Given the description of an element on the screen output the (x, y) to click on. 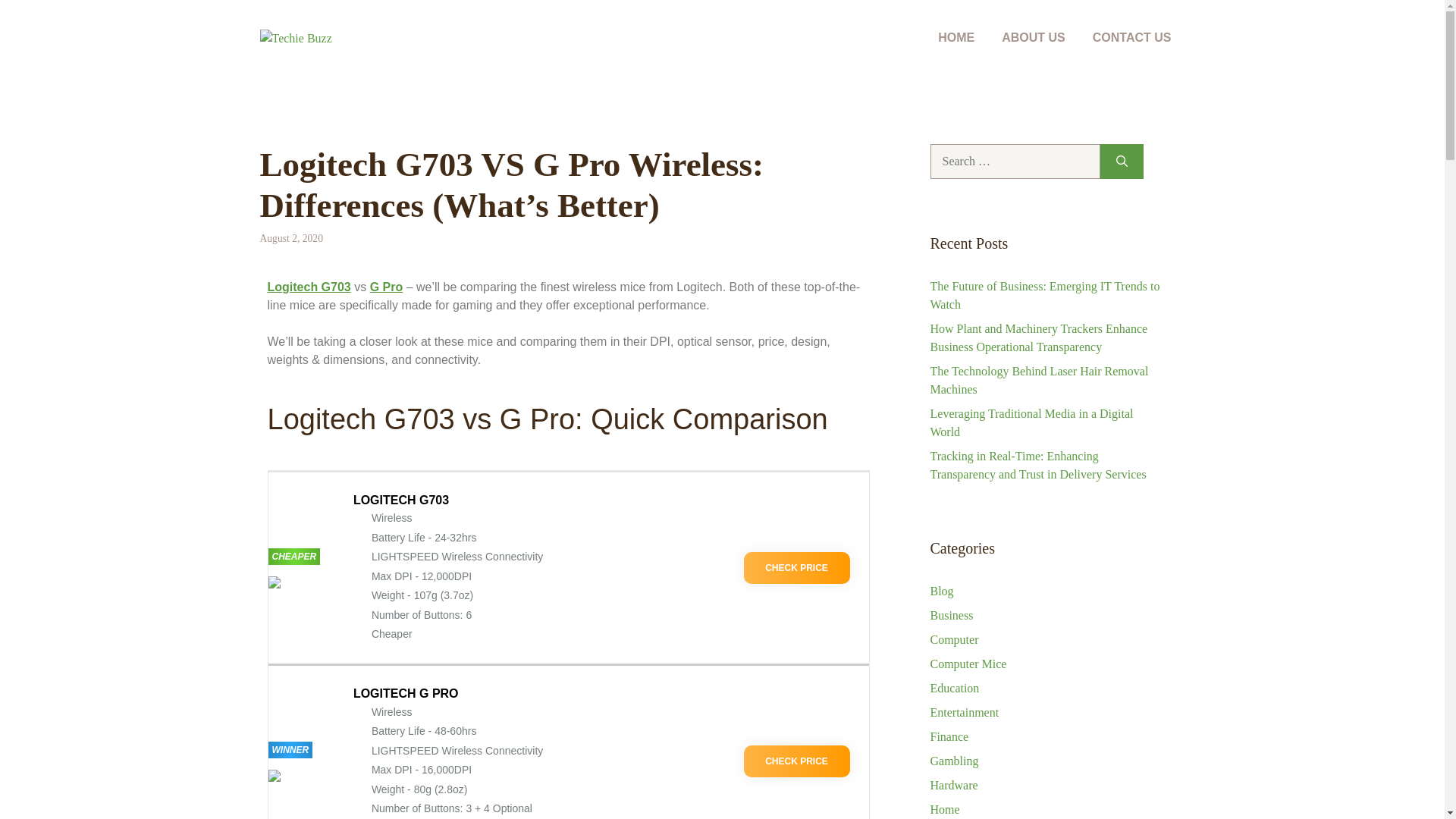
CONTACT US (1131, 37)
The Technology Behind Laser Hair Removal Machines (1039, 379)
CHECK PRICE (795, 567)
G Pro (386, 286)
CHECK PRICE (795, 761)
HOME (956, 37)
The Future of Business: Emerging IT Trends to Watch (1044, 295)
Logitech G703 (308, 286)
ABOUT US (1033, 37)
Search for: (1014, 161)
